Given the description of an element on the screen output the (x, y) to click on. 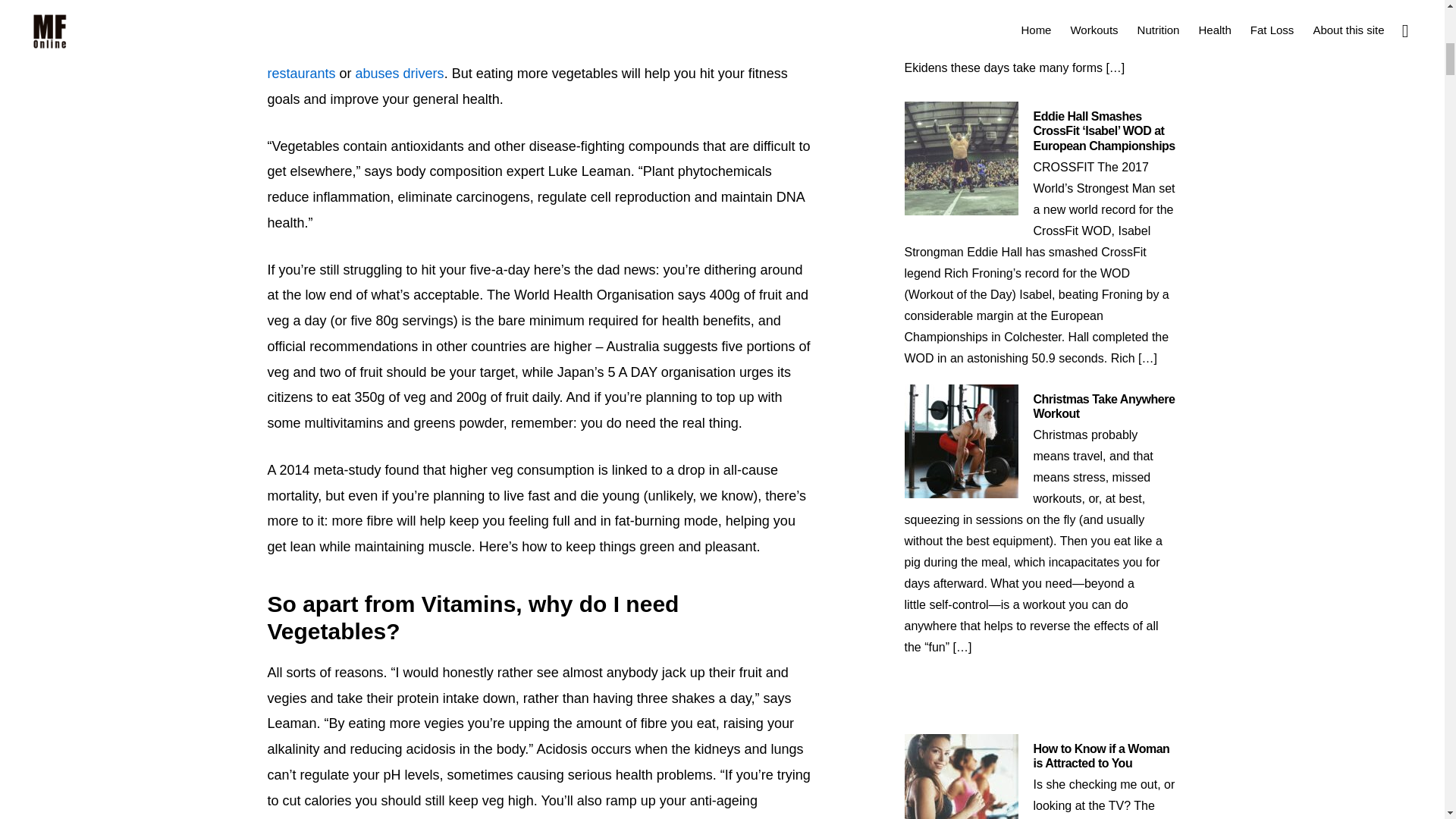
abuses drivers (399, 73)
harasses diners in steak restaurants (532, 60)
